Given the description of an element on the screen output the (x, y) to click on. 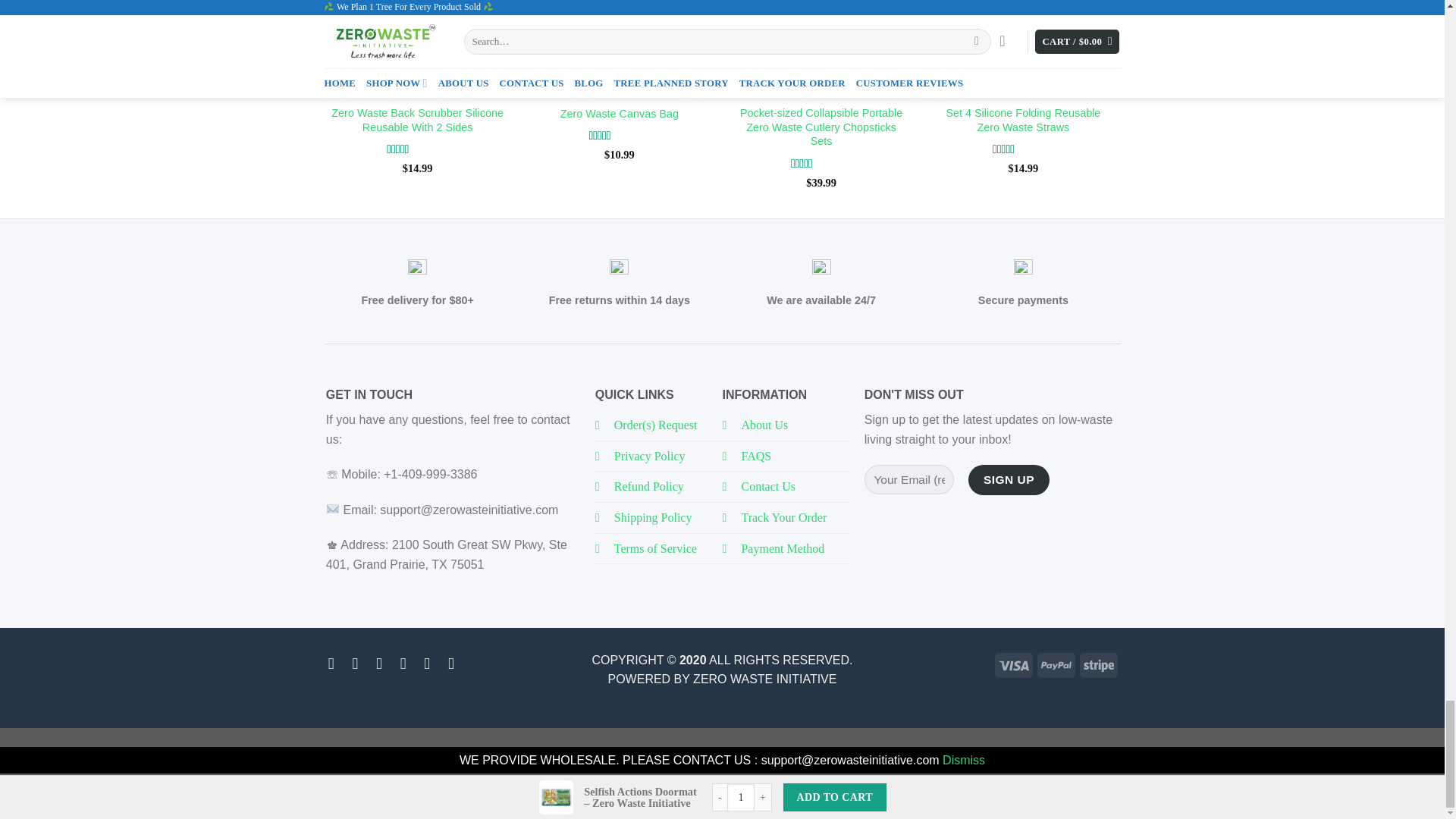
Sign Up (1008, 479)
